Given the description of an element on the screen output the (x, y) to click on. 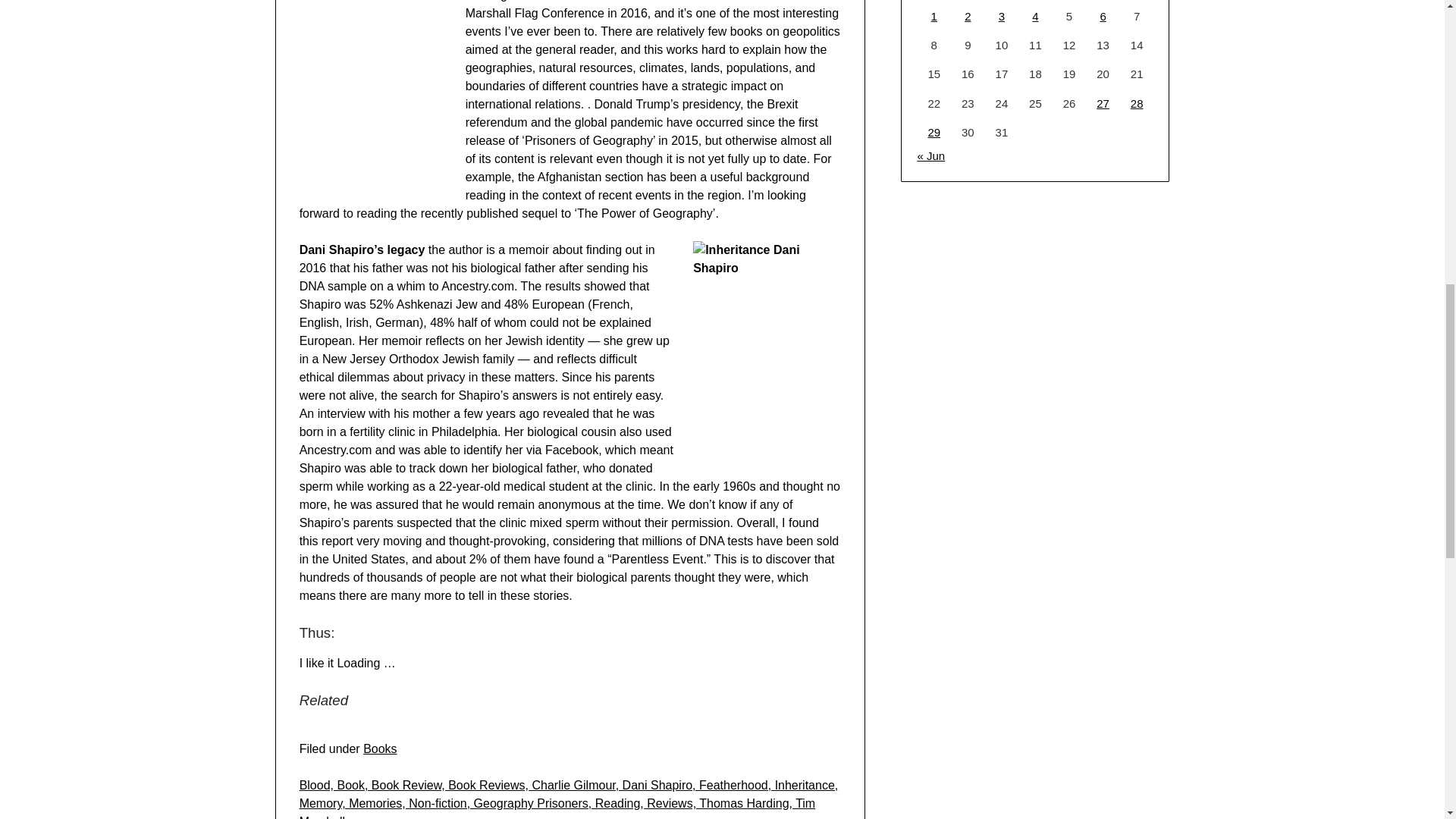
Tuesday (967, 0)
Sunday (1136, 0)
Saturday (1102, 0)
Wednesday (1002, 0)
Thursday (1034, 0)
Friday (1069, 0)
Monday (933, 0)
Books (379, 748)
